Given the description of an element on the screen output the (x, y) to click on. 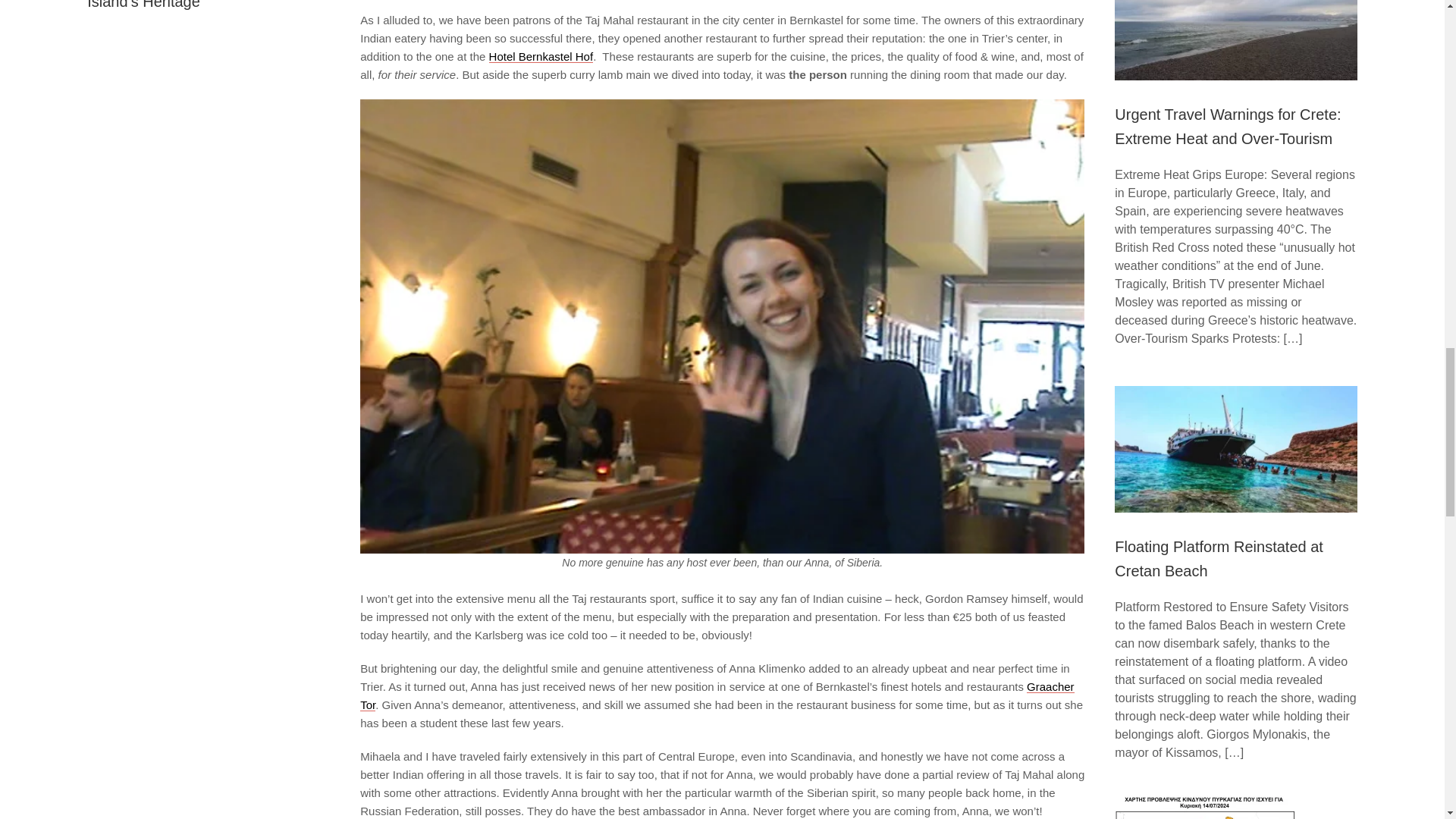
Hotel Bernkastel Hof (541, 56)
Graacher Tor (716, 694)
